Given the description of an element on the screen output the (x, y) to click on. 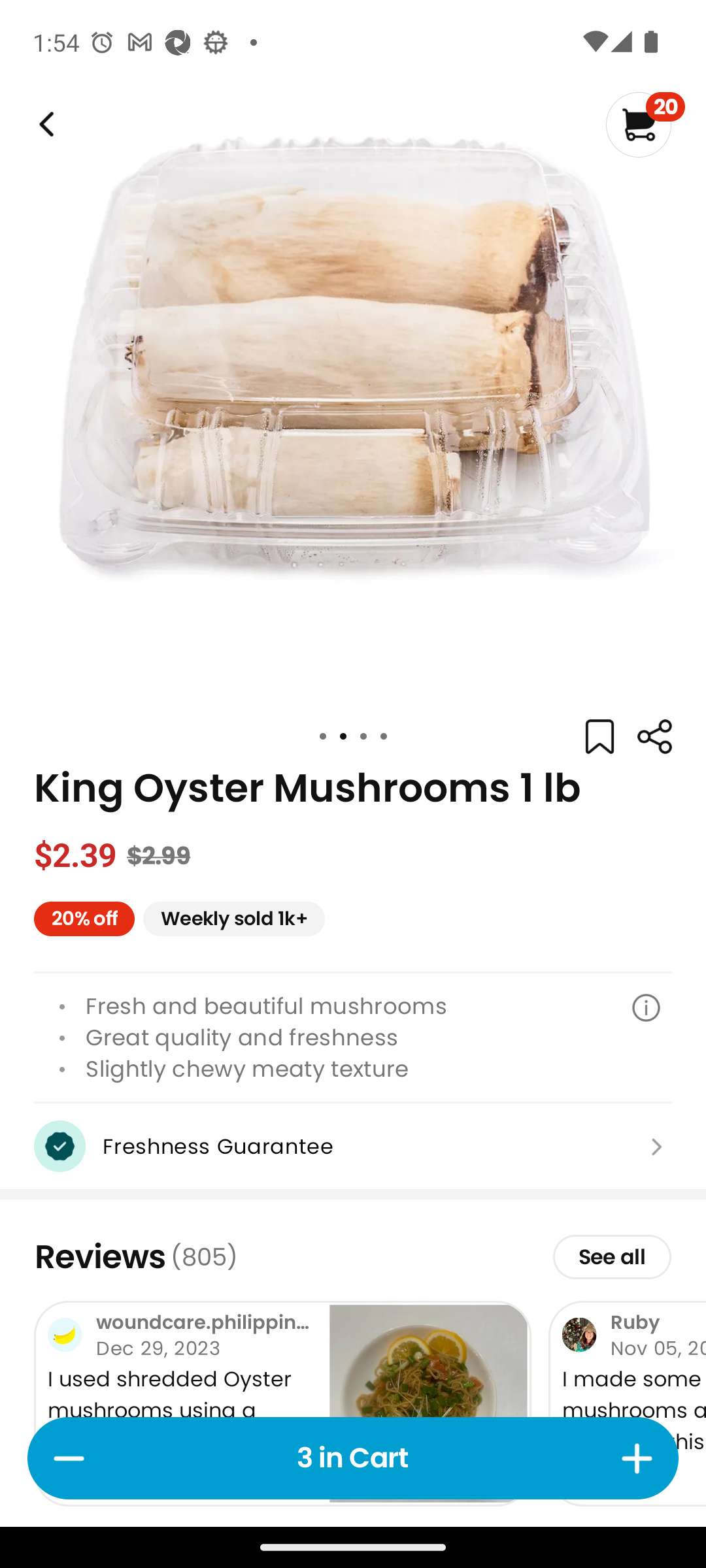
20 (644, 124)
Weee! (45, 124)
Weee! (653, 736)
Freshness Guarantee (352, 1145)
Reviews (805) See all (353, 1256)
3 in Cart (352, 1458)
